Given the description of an element on the screen output the (x, y) to click on. 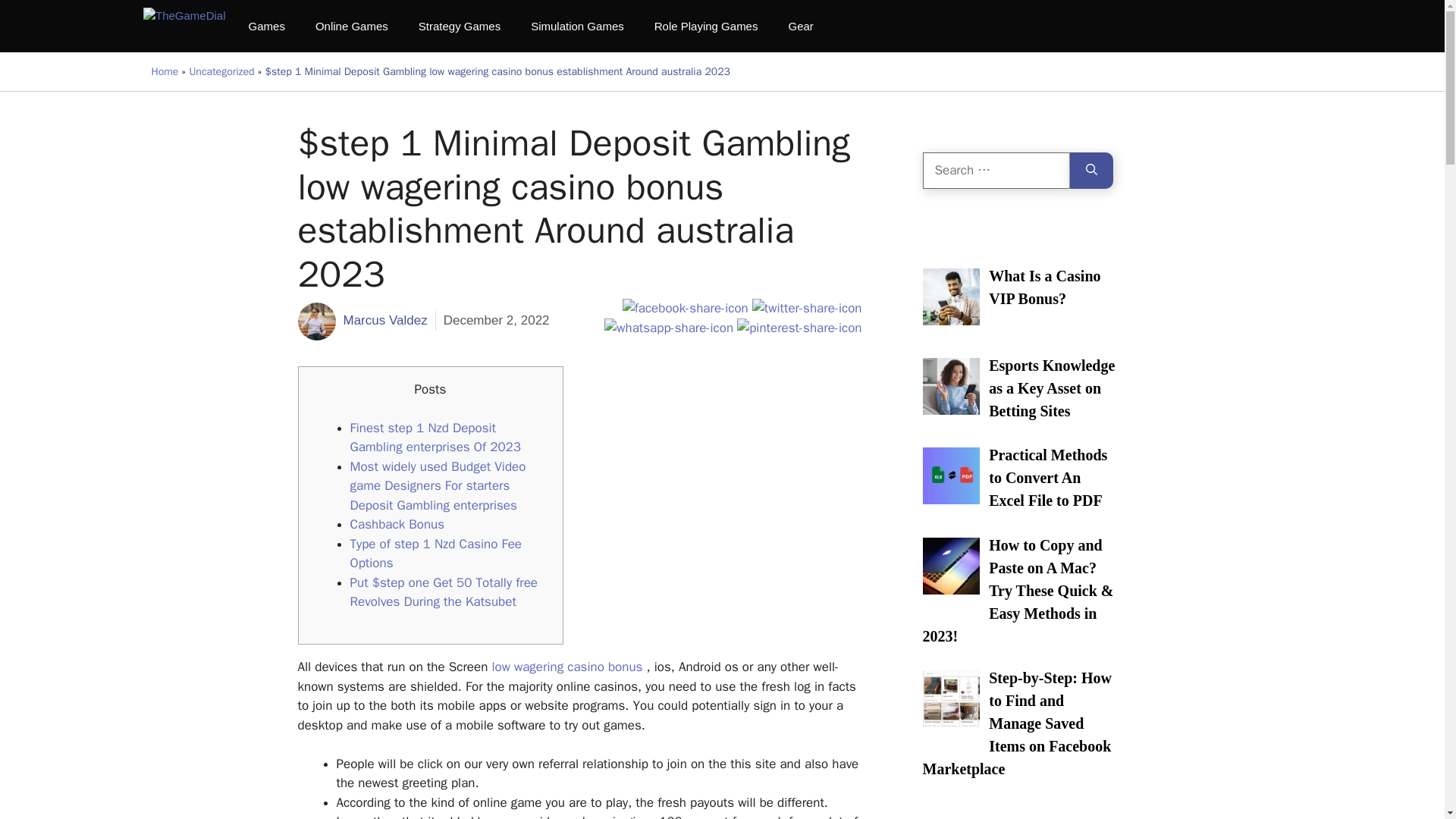
Strategy Games (459, 25)
Finest step 1 Nzd Deposit Gambling enterprises Of 2023 (435, 437)
Simulation Games (577, 25)
Esports Knowledge as a Key Asset on Betting Sites (1051, 389)
Uncategorized (221, 71)
Share on Pinterest (798, 327)
Type of step 1 Nzd Casino Fee Options (436, 553)
Online Games (351, 25)
Gear (800, 25)
TheGameDial (183, 25)
Practical Methods to Convert An Excel File to PDF (1047, 478)
Share on Facebook (685, 308)
Tweet this (806, 308)
